Given the description of an element on the screen output the (x, y) to click on. 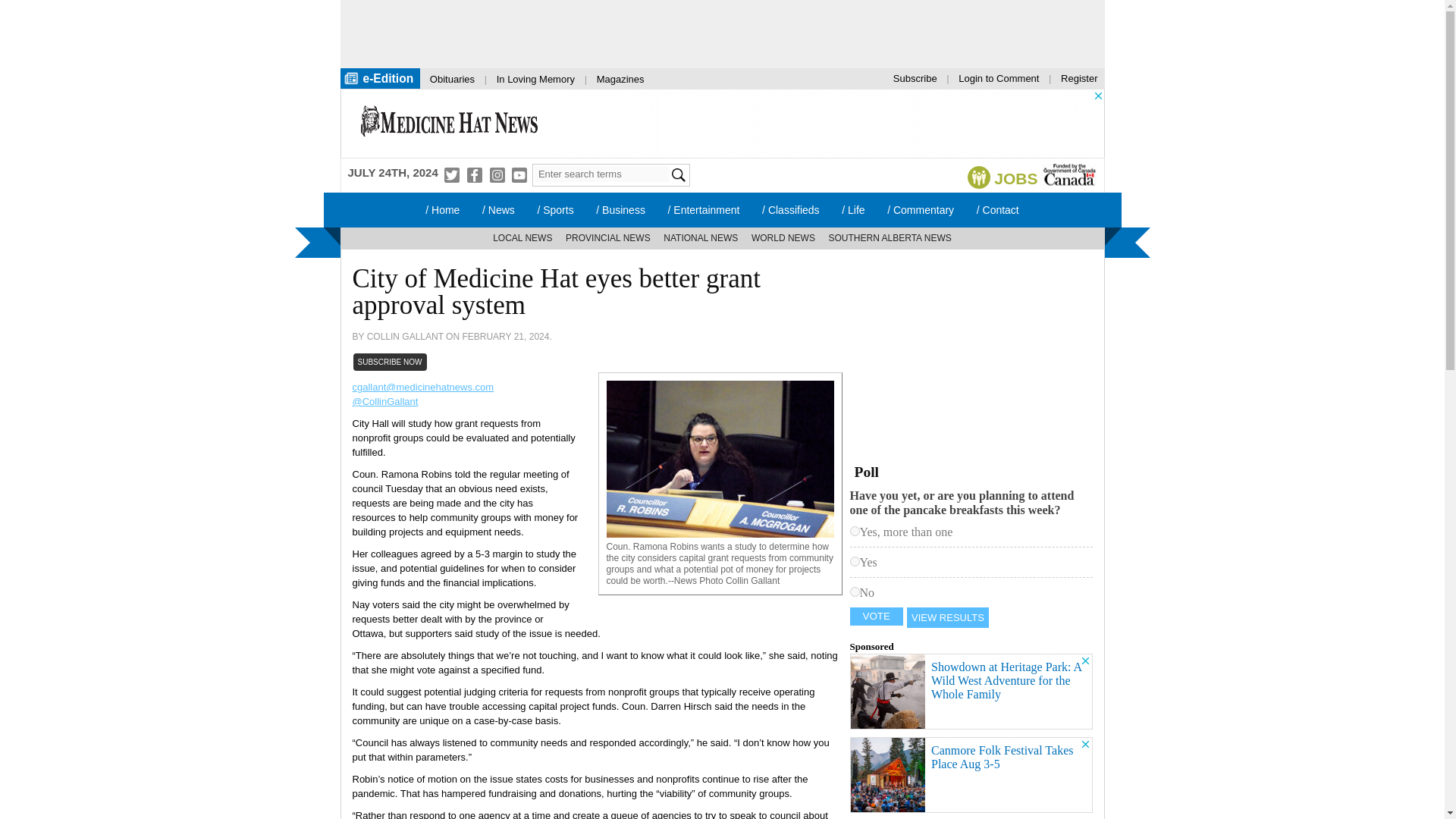
Contact (997, 209)
VIEW RESULTS (947, 617)
Business (620, 209)
Sports (555, 209)
Classifieds (790, 209)
e-Edition (379, 77)
3rd party ad content (962, 355)
3rd party ad content (707, 33)
PROVINCIAL NEWS (608, 238)
Home (449, 123)
Home (441, 209)
View Results Of This Poll (947, 617)
News (497, 209)
LOCAL NEWS (522, 238)
